Given the description of an element on the screen output the (x, y) to click on. 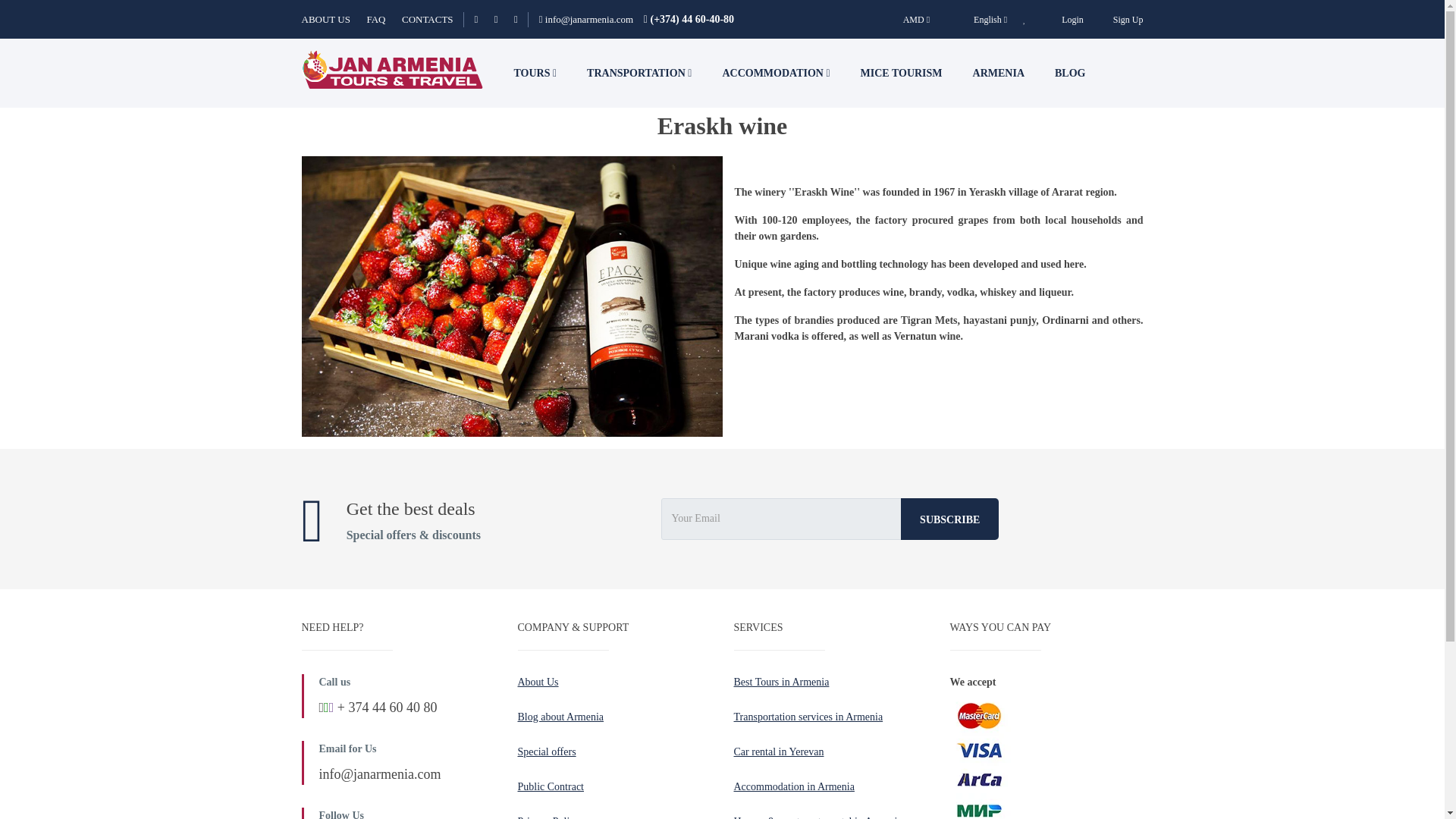
AMD (916, 18)
TRANSPORTATION (639, 72)
English (983, 18)
ABOUT US (332, 19)
ARMENIA (998, 72)
ACCOMMODATION (775, 72)
Login (1072, 18)
CONTACTS (426, 19)
FAQ (382, 19)
Sign Up (1127, 18)
